Given the description of an element on the screen output the (x, y) to click on. 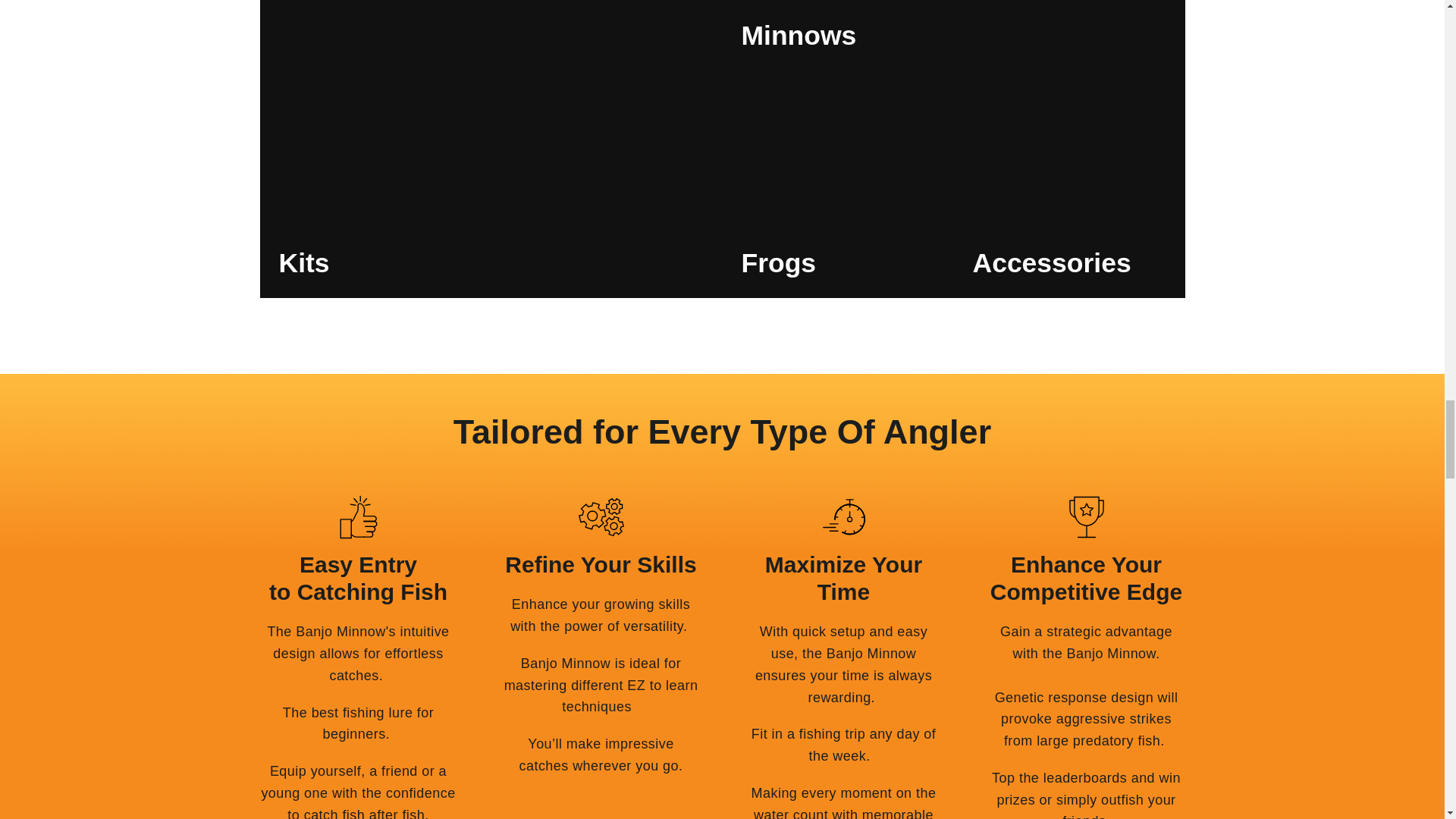
Accessories (1069, 184)
Frogs (837, 184)
Minnows (953, 35)
